Given the description of an element on the screen output the (x, y) to click on. 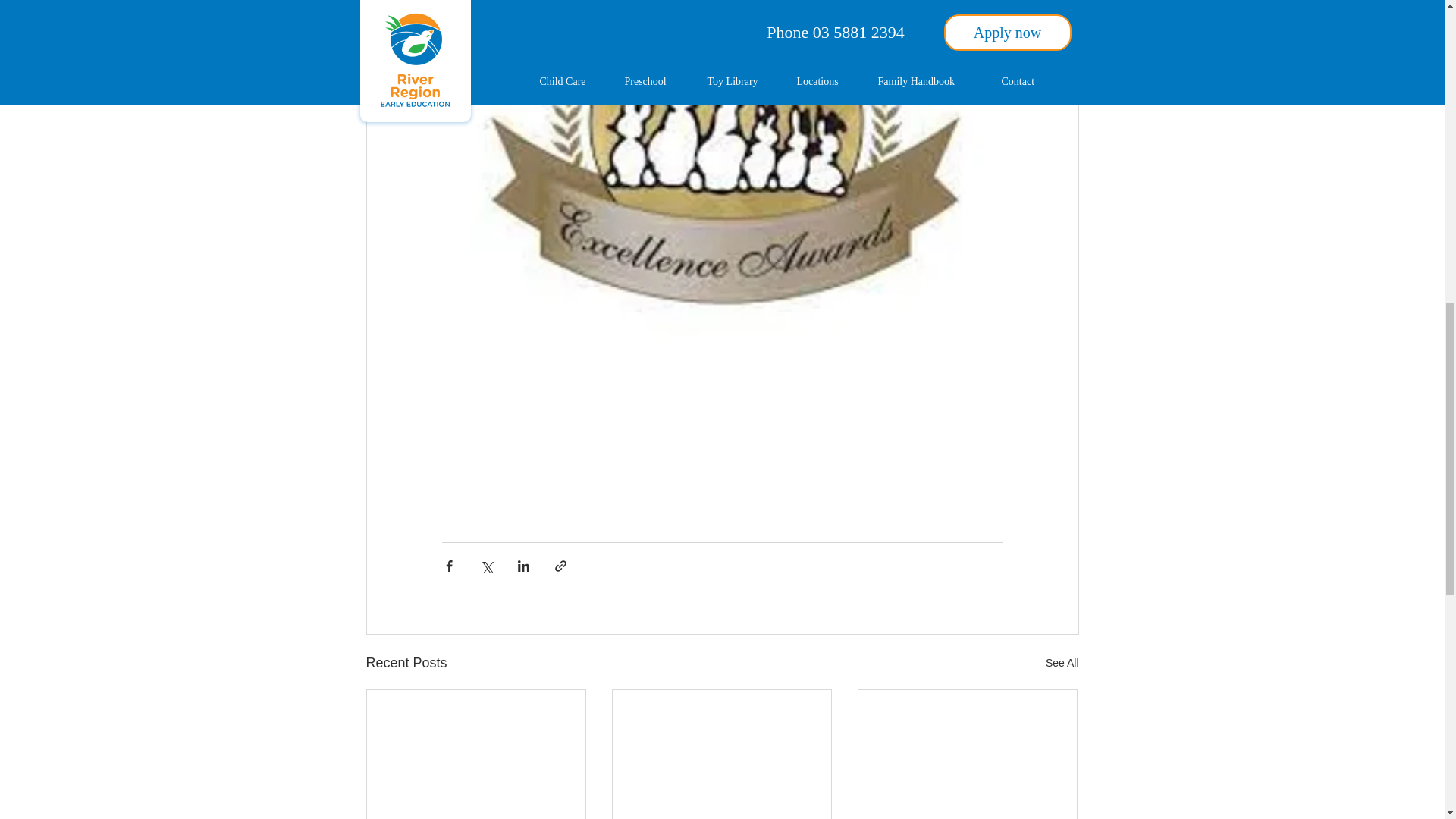
See All (1061, 662)
